Given the description of an element on the screen output the (x, y) to click on. 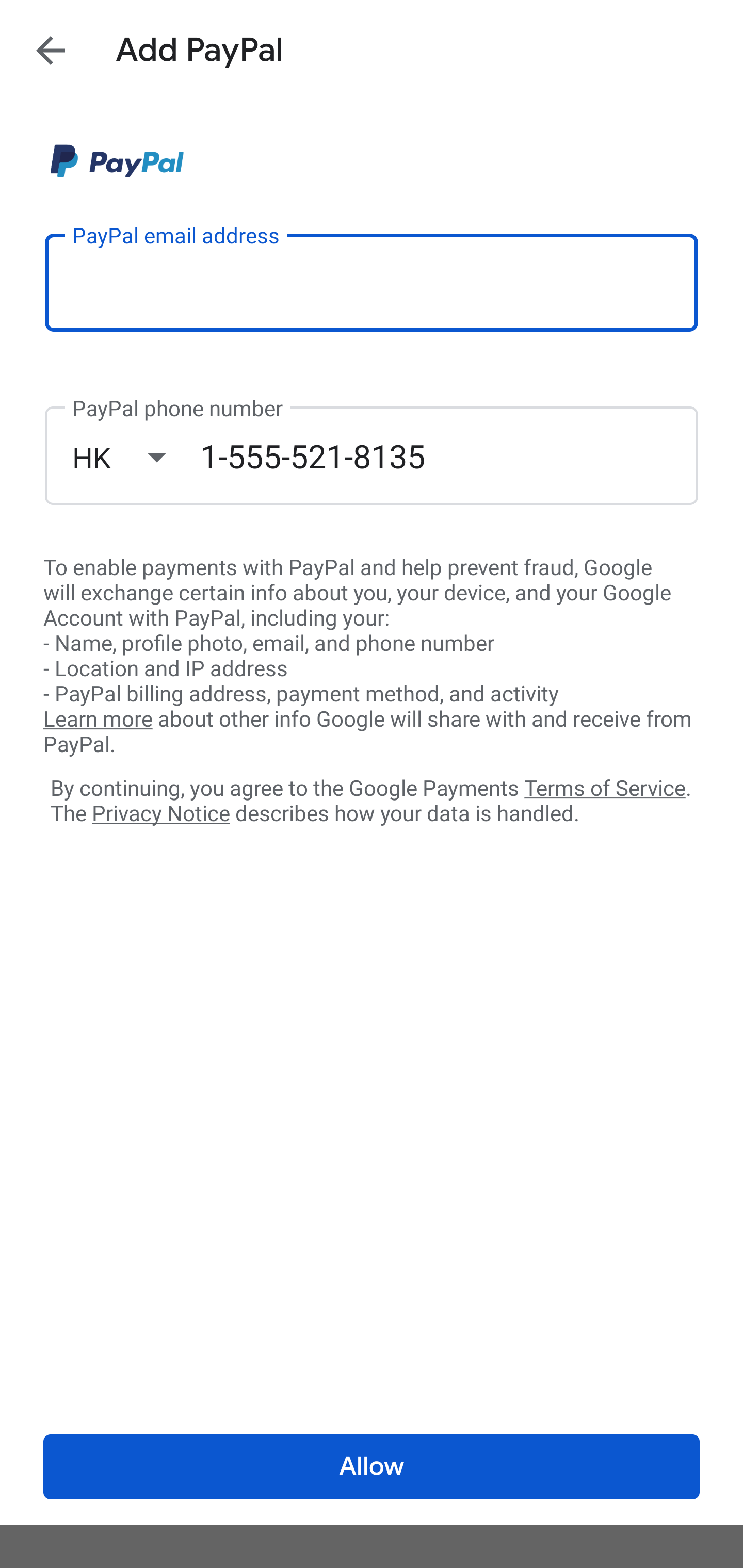
Navigate up (50, 50)
PayPal email address (371, 282)
HK (135, 456)
Learn more (97, 719)
Terms of Service (604, 787)
Privacy Notice (160, 814)
Allow (371, 1466)
